Given the description of an element on the screen output the (x, y) to click on. 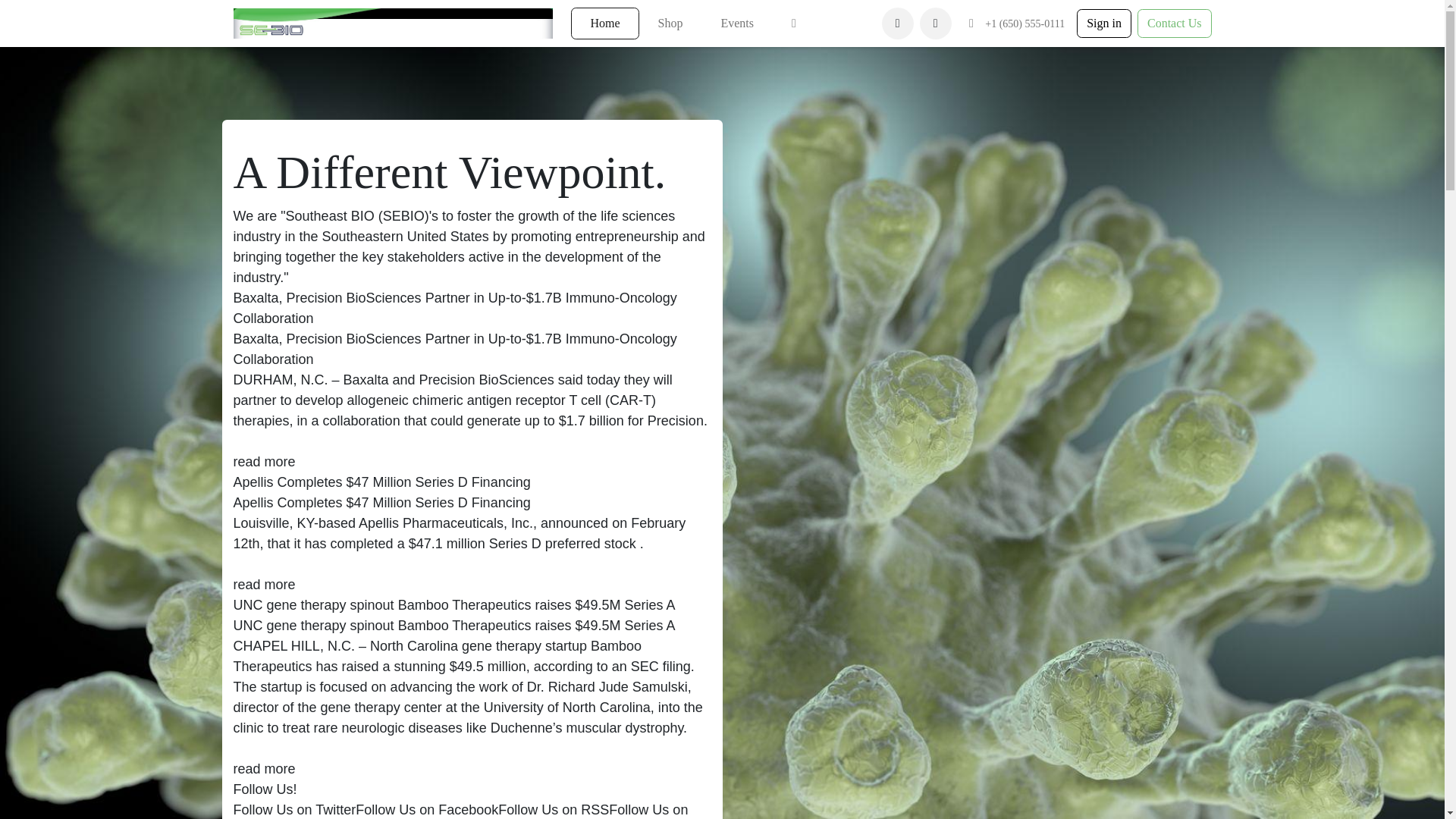
Search (936, 23)
Shop (670, 23)
Contact Us (1174, 23)
Sebio (392, 23)
Sign in (1104, 23)
Home (604, 23)
Events (737, 23)
